Given the description of an element on the screen output the (x, y) to click on. 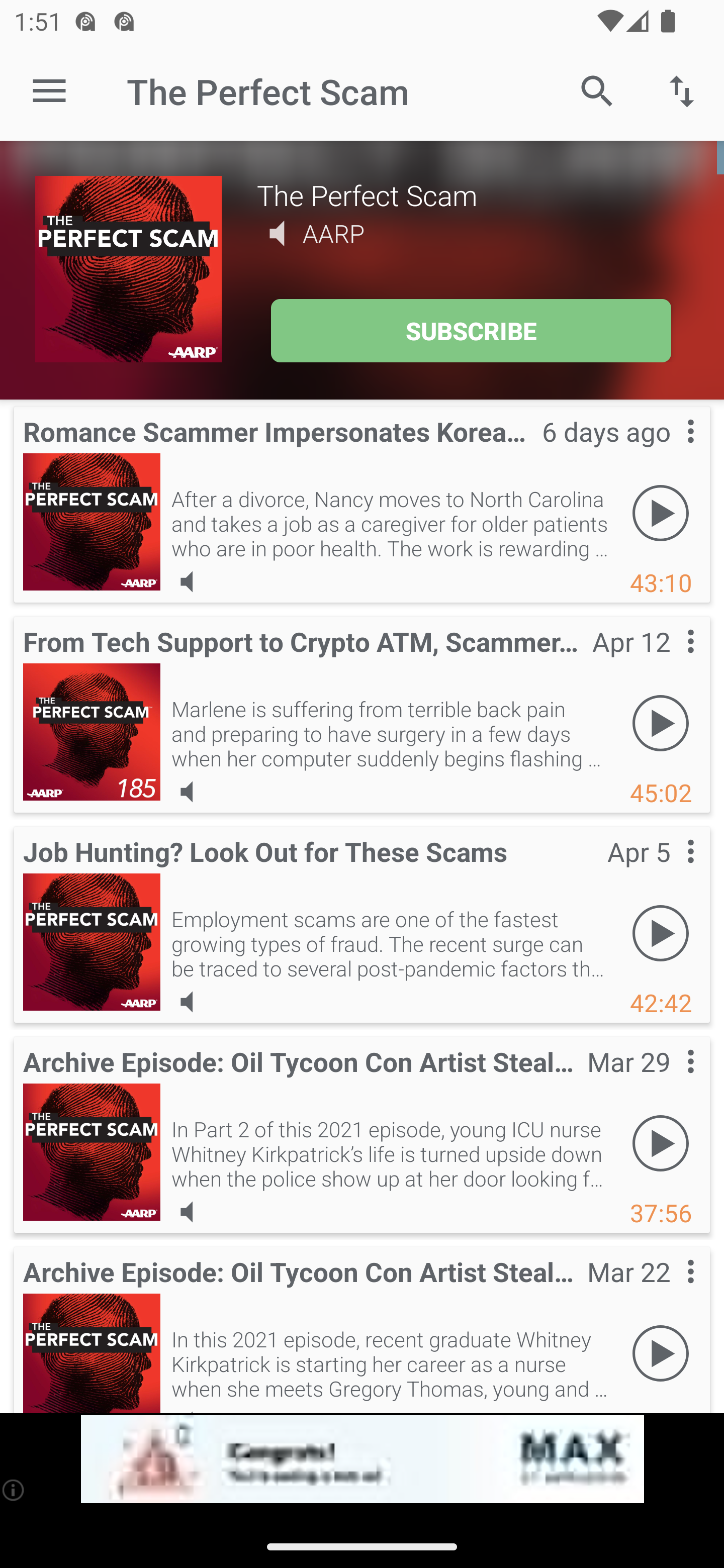
Open navigation sidebar (49, 91)
Search (597, 90)
Sort (681, 90)
SUBSCRIBE (470, 330)
Contextual menu (668, 451)
Play (660, 513)
Contextual menu (668, 661)
Play (660, 723)
Contextual menu (668, 870)
Play (660, 933)
Contextual menu (668, 1080)
Play (660, 1143)
Contextual menu (668, 1290)
Play (660, 1353)
app-monetization (362, 1459)
(i) (14, 1489)
